Given the description of an element on the screen output the (x, y) to click on. 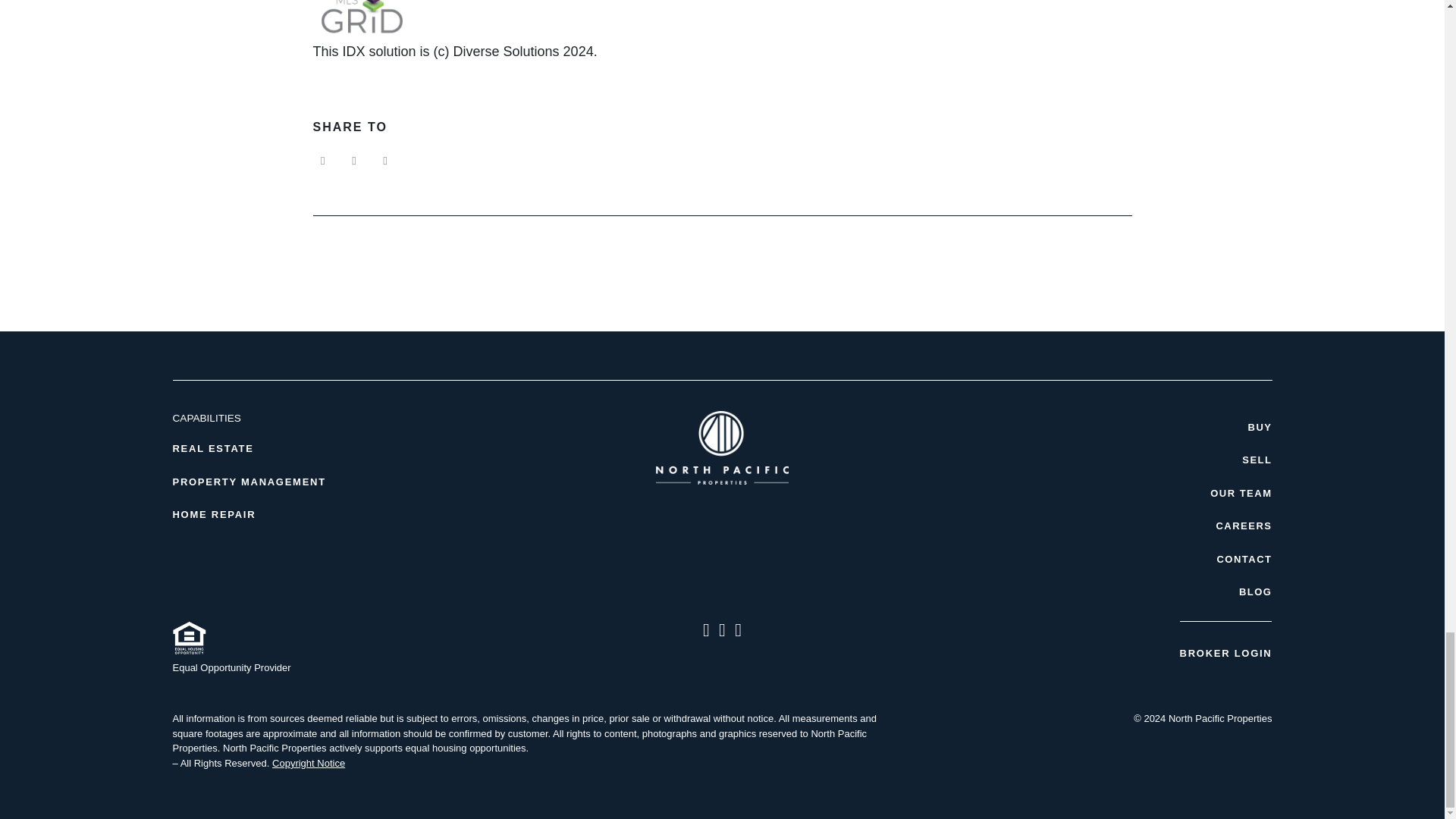
Careers (1088, 525)
Blog (1088, 592)
Our Team (1088, 493)
Buy (1088, 427)
Contact (1088, 559)
Sell (1088, 459)
